Given the description of an element on the screen output the (x, y) to click on. 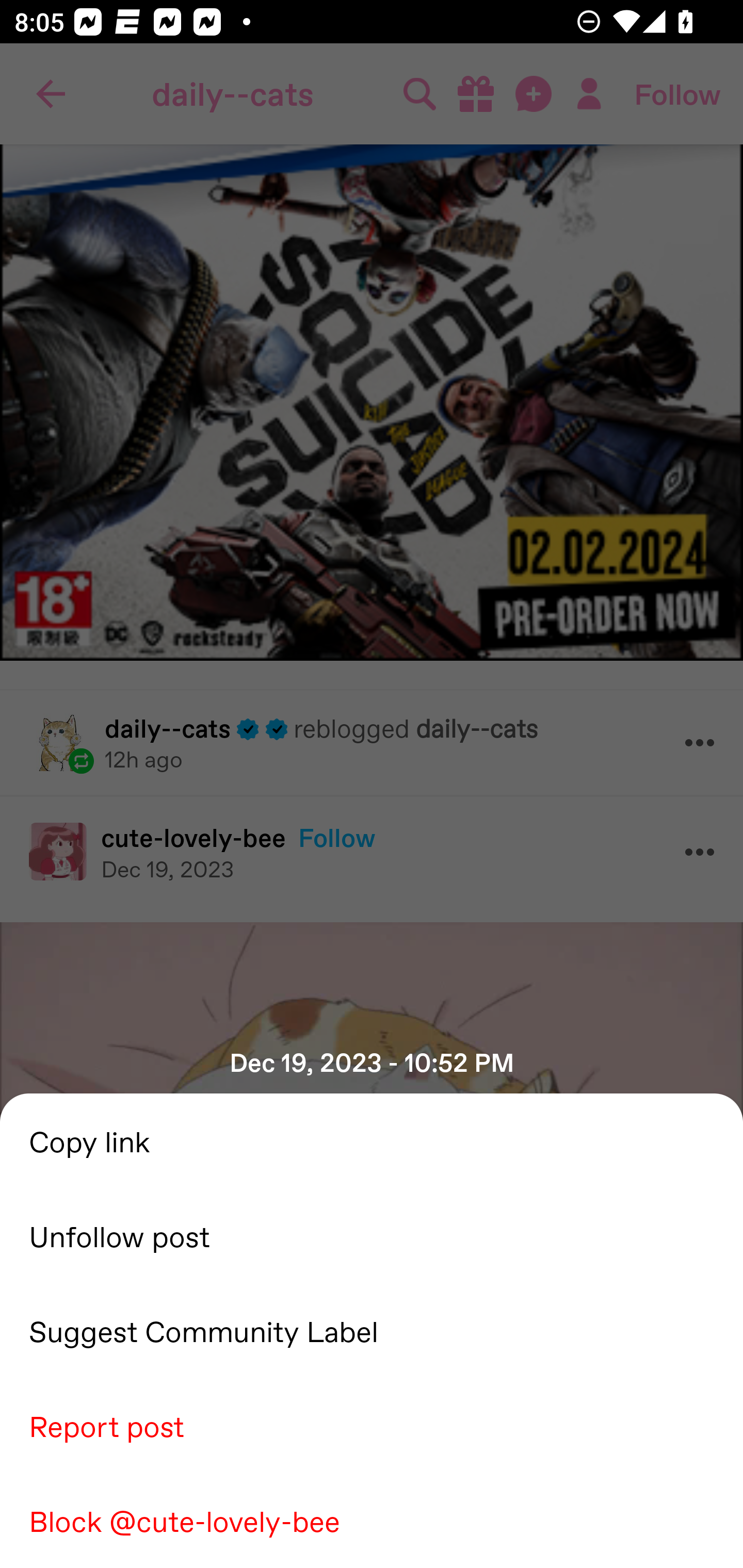
Copy link (371, 1140)
Unfollow post (371, 1235)
Suggest Community Label (371, 1330)
Report post (371, 1425)
Block @cute-lovely-bee (371, 1520)
